Given the description of an element on the screen output the (x, y) to click on. 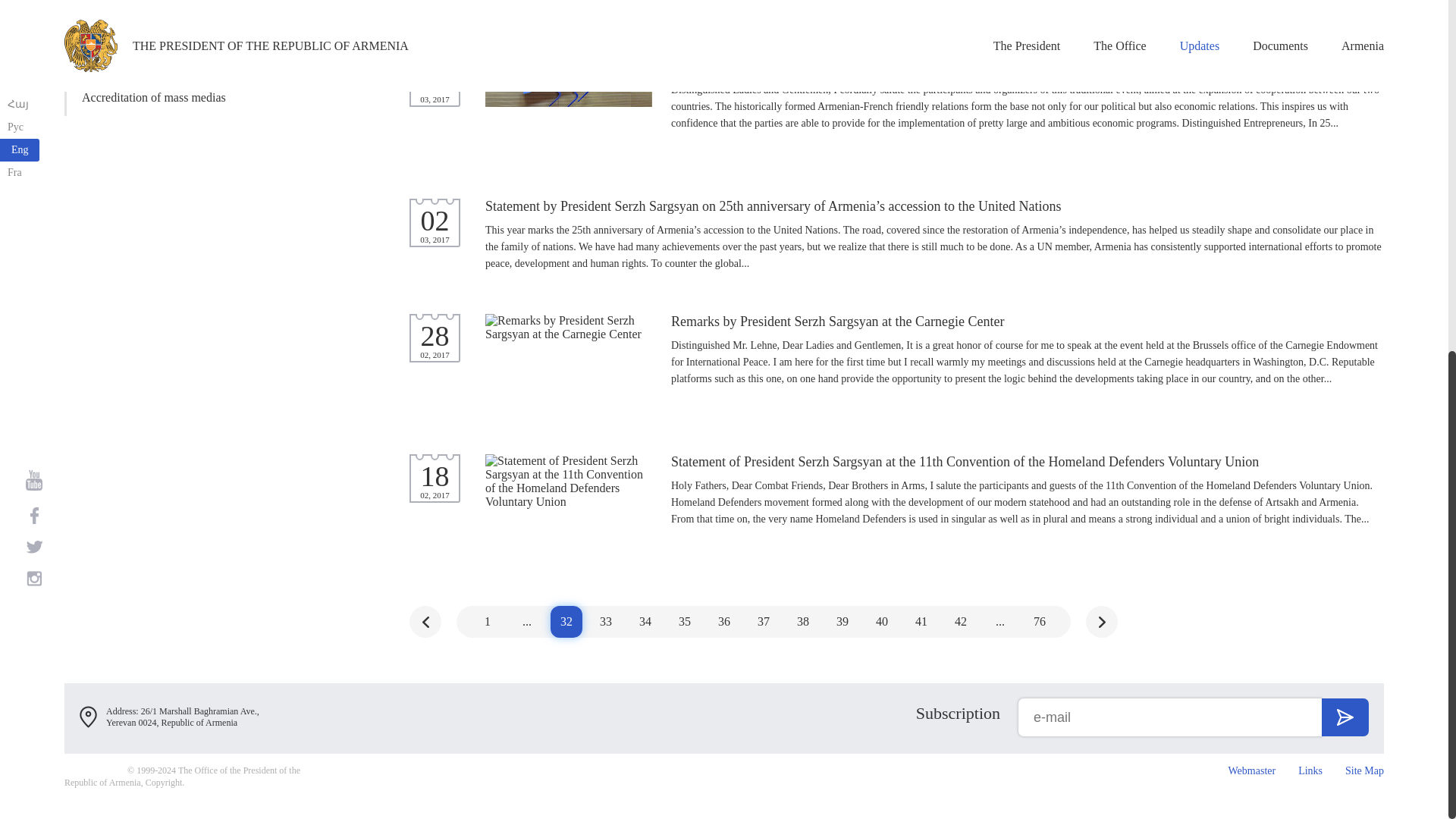
36 (723, 622)
33 (605, 622)
Accreditation of mass medias (171, 97)
32 (566, 622)
Telegrams and messages (171, 4)
38 (802, 622)
